Given the description of an element on the screen output the (x, y) to click on. 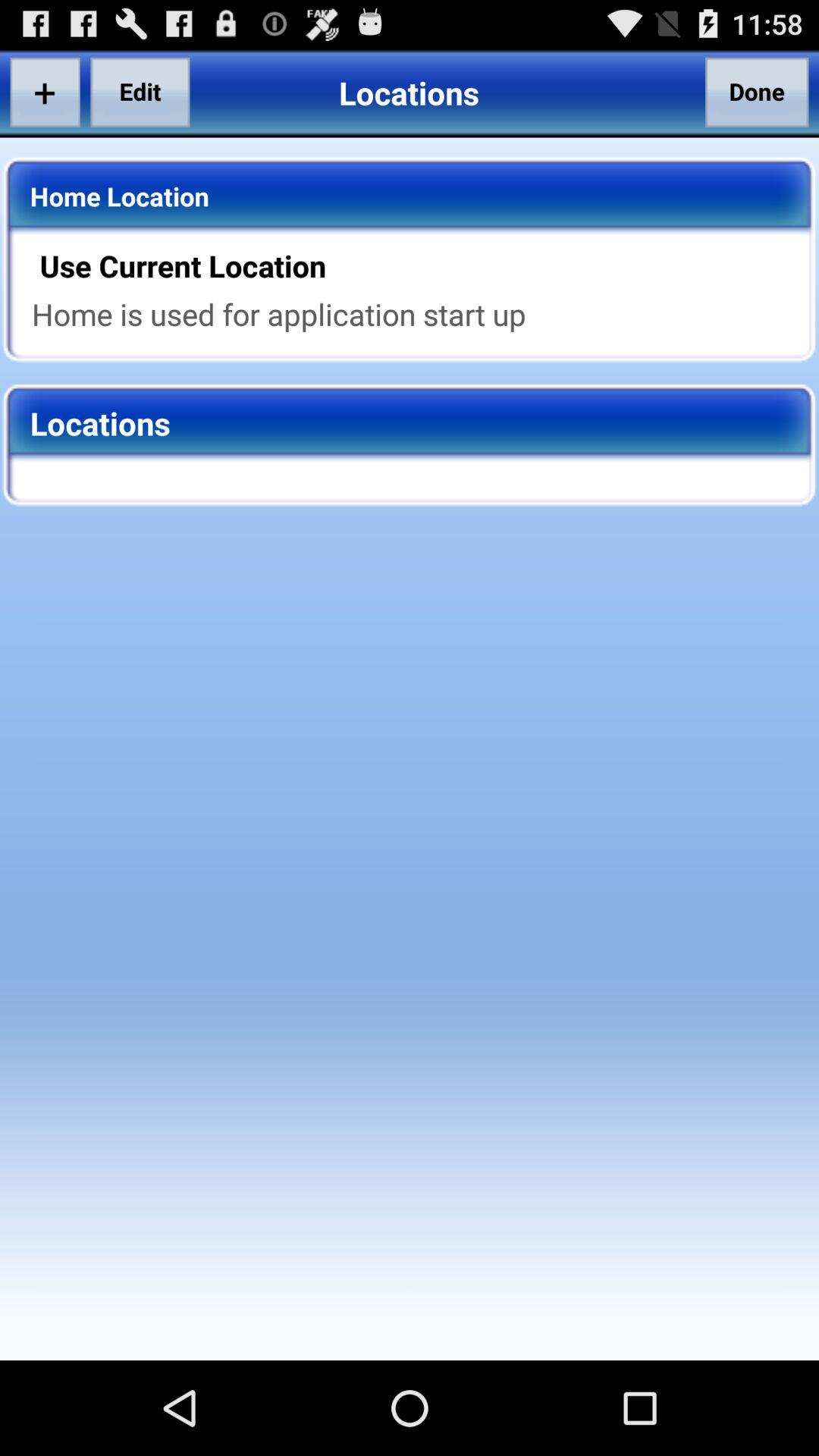
open item above use current location icon (756, 92)
